Given the description of an element on the screen output the (x, y) to click on. 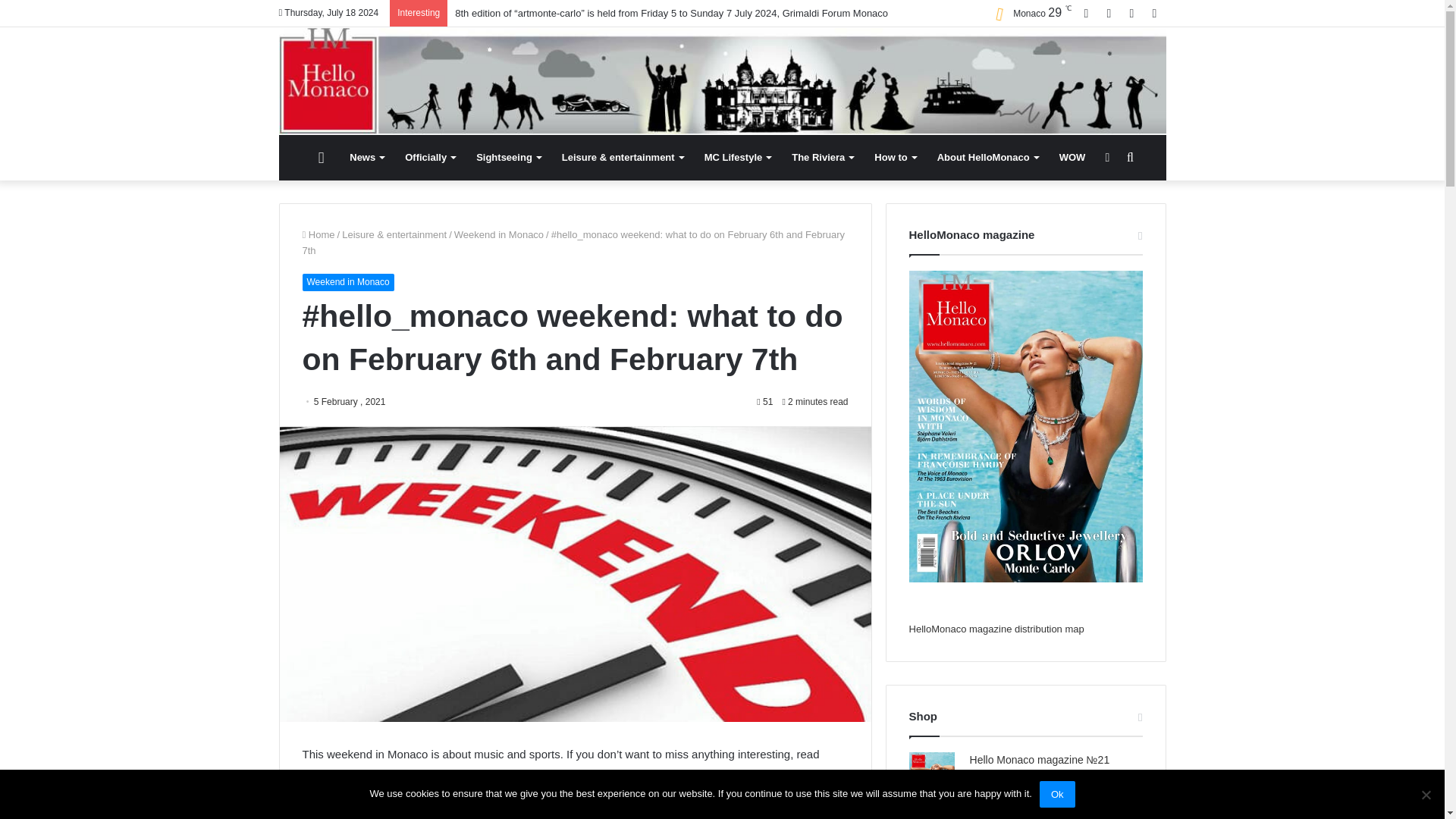
Officially (429, 157)
HelloMonaco (722, 80)
Sightseeing (508, 157)
Clear Sky (1027, 13)
News (366, 157)
MC Lifestyle (737, 157)
No (1425, 794)
